Given the description of an element on the screen output the (x, y) to click on. 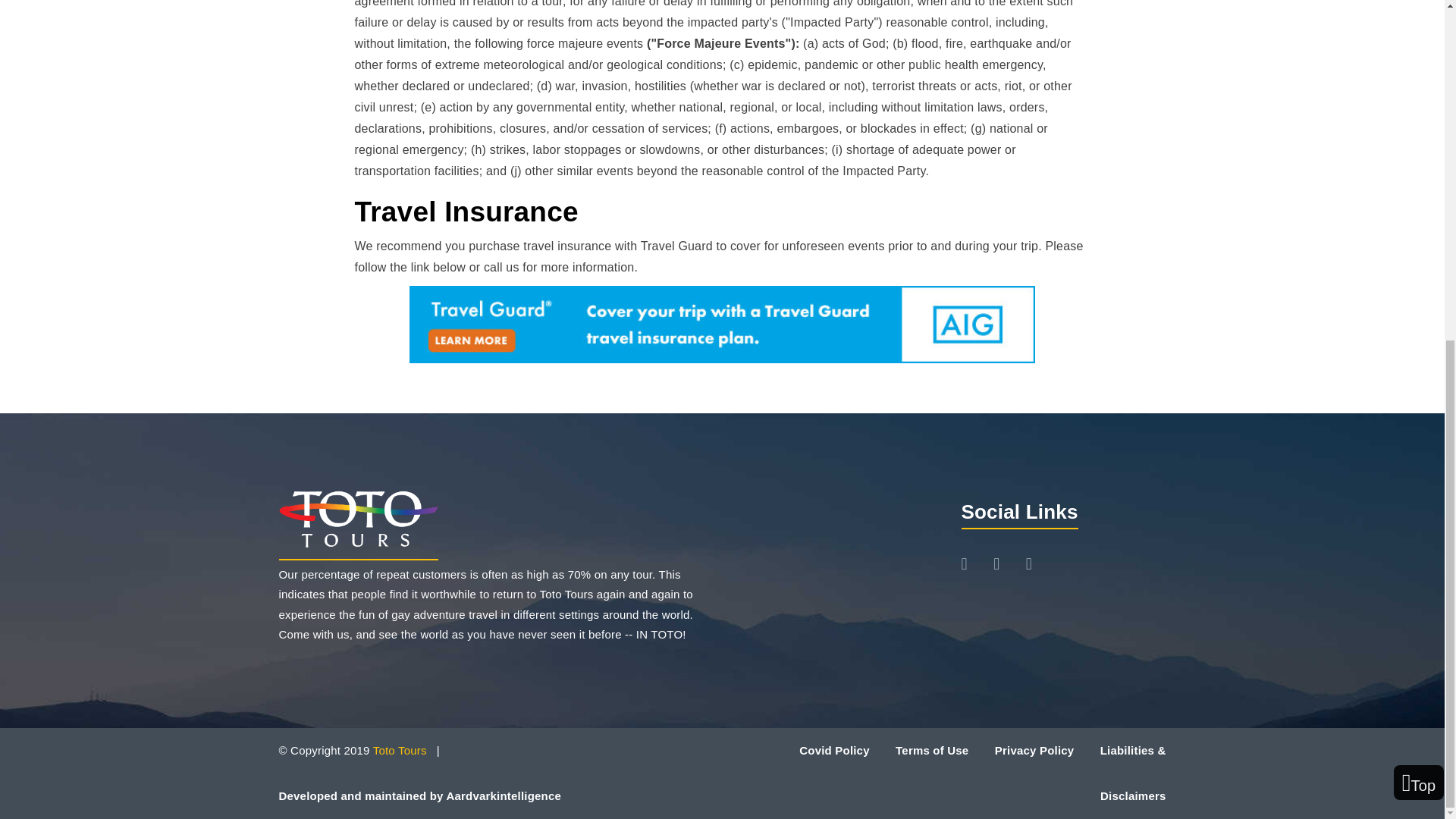
Terms of Use (931, 749)
Covid Policy (834, 749)
Privacy Policy (1035, 749)
Developed and maintained by Aardvarkintelligence (420, 795)
